Given the description of an element on the screen output the (x, y) to click on. 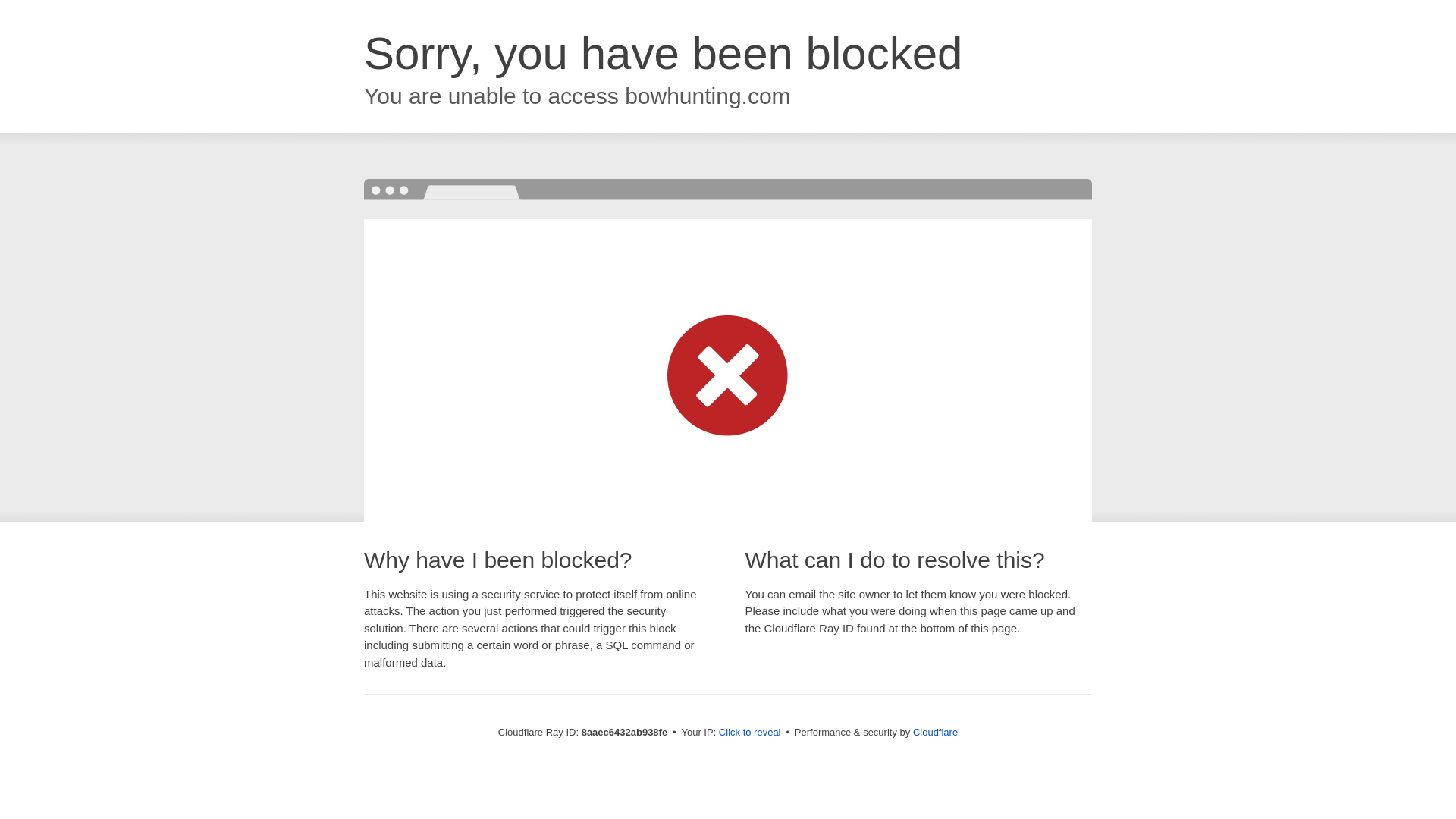
Cloudflare (935, 731)
Click to reveal (749, 732)
